Given the description of an element on the screen output the (x, y) to click on. 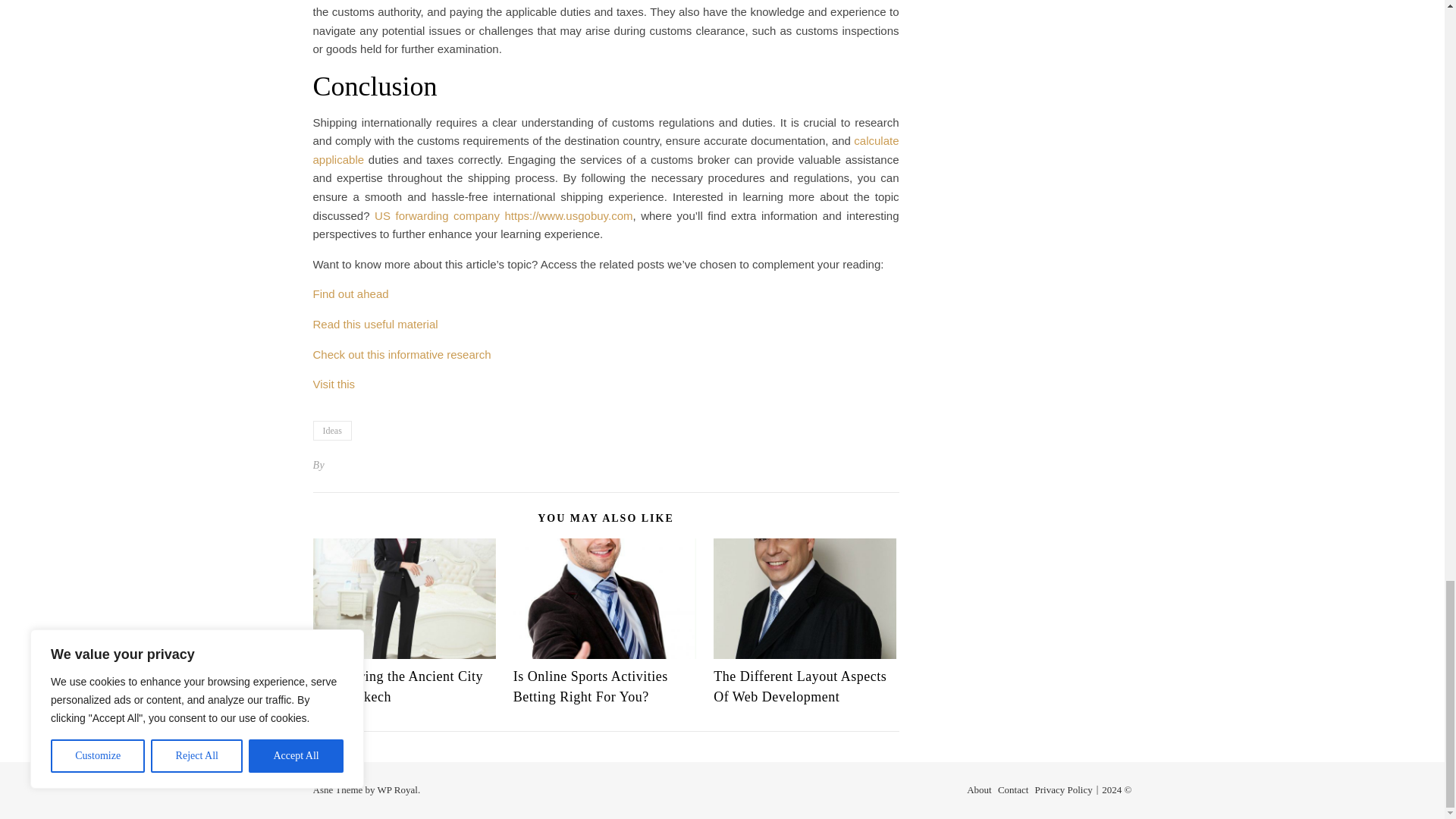
Discovering the Ancient City of Marrakech (397, 686)
Is Online Sports Activities Betting Right For You? (590, 686)
The Different Layout Aspects Of Web Development (799, 686)
Check out this informative research (401, 354)
Visit this (334, 383)
calculate applicable (605, 150)
Find out ahead (350, 293)
Ideas (331, 430)
Read this useful material (375, 323)
